Given the description of an element on the screen output the (x, y) to click on. 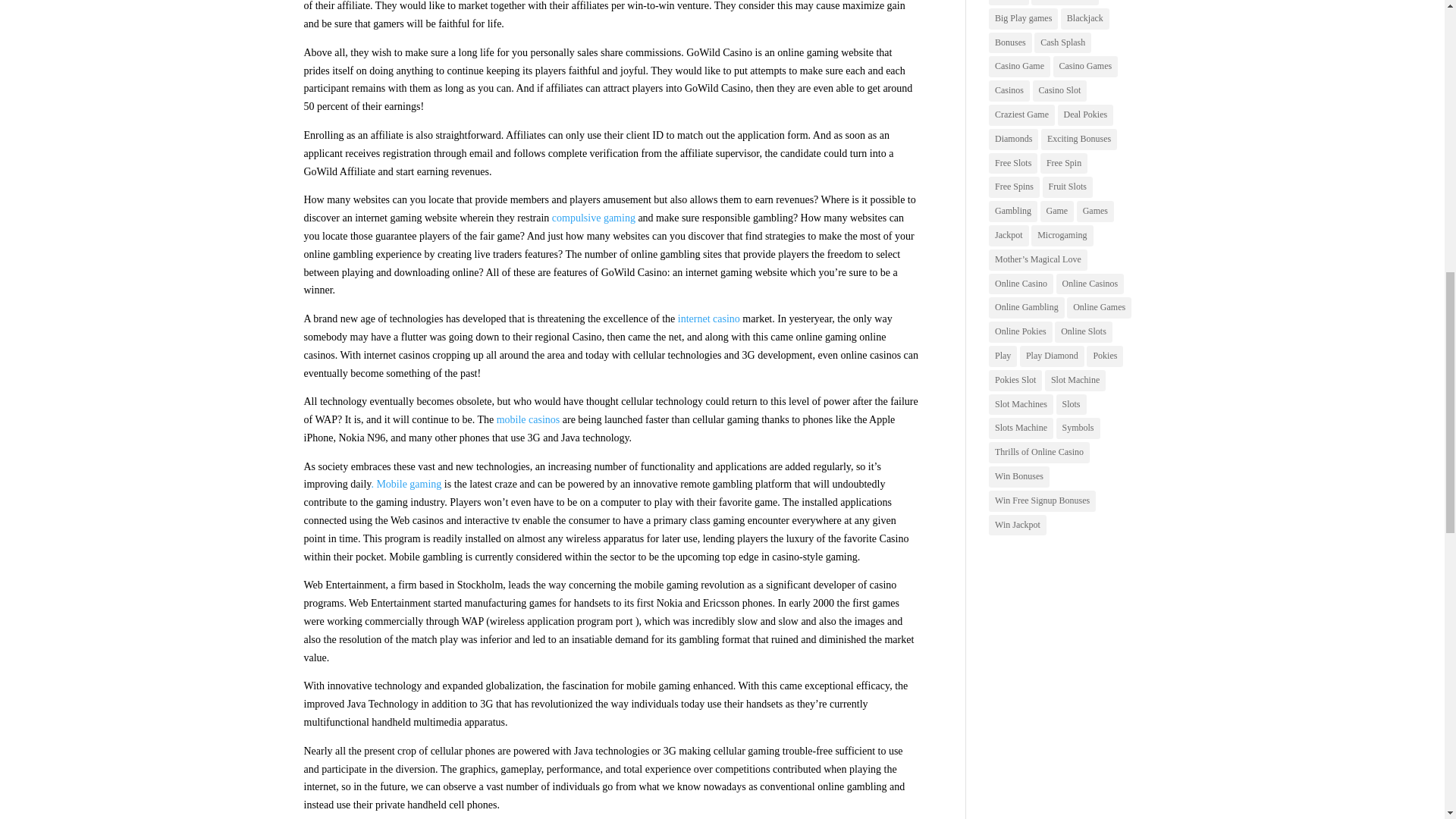
Blackjack (1085, 18)
. Mobile gaming (406, 483)
Big Play games (1023, 18)
Casino Games (1085, 66)
Bonuses (1010, 43)
Betway (1008, 2)
Betway Casino (1064, 2)
mobile casinos (528, 419)
Cash Splash (1061, 43)
internet casino (708, 318)
compulsive gaming (592, 217)
Casino Game (1018, 66)
